Given the description of an element on the screen output the (x, y) to click on. 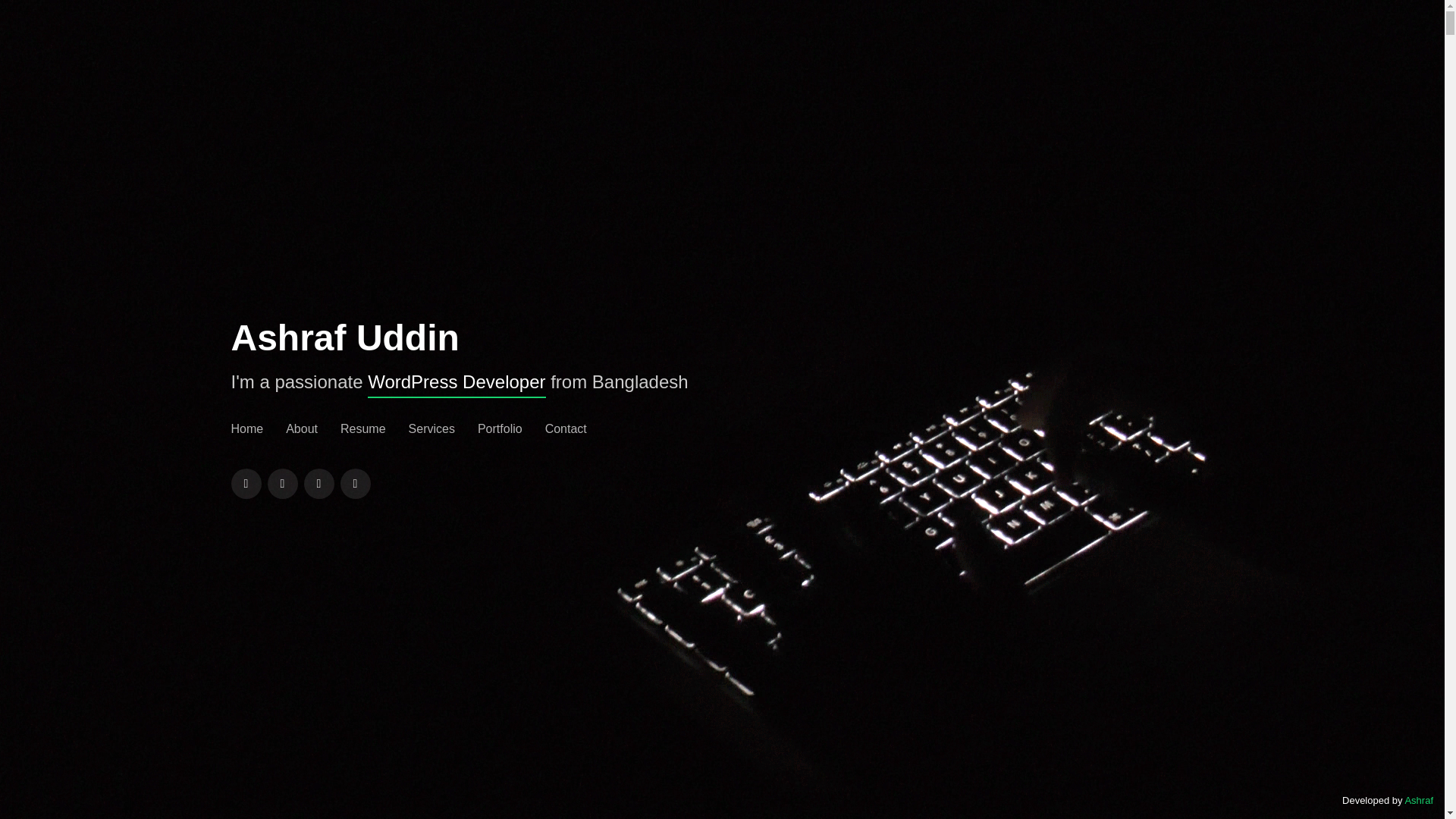
Resume (362, 429)
About (301, 429)
Contact (565, 429)
Ashraf Uddin (344, 338)
Services (431, 429)
Home (246, 429)
Portfolio (499, 429)
